Given the description of an element on the screen output the (x, y) to click on. 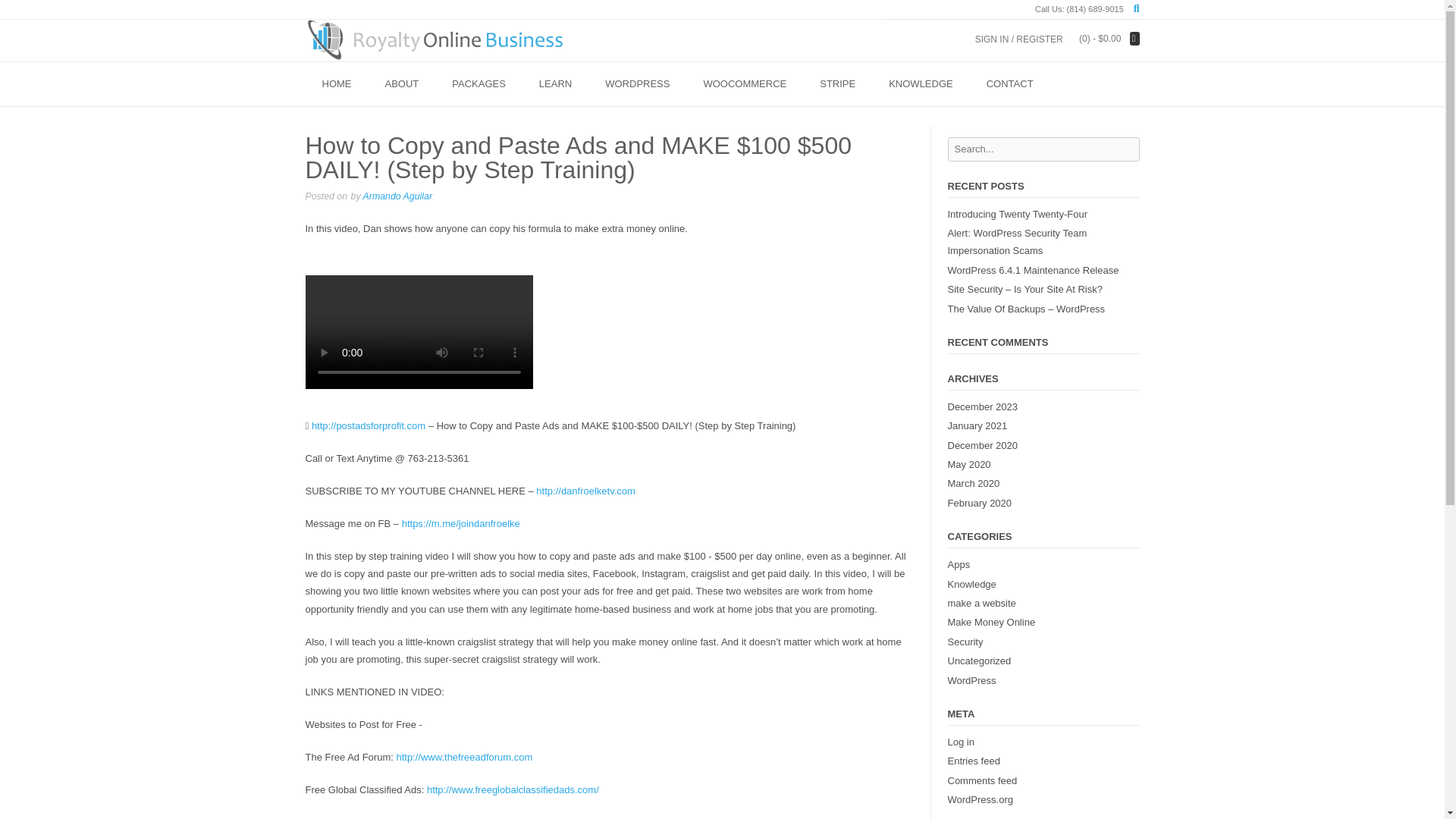
Introducing Twenty Twenty-Four (1017, 214)
ABOUT (401, 84)
WORDPRESS (636, 84)
Search for: (1043, 149)
Search for: (999, 6)
December 2023 (982, 406)
LEARN (555, 84)
Alert: WordPress Security Team Impersonation Scams (1017, 241)
